Given the description of an element on the screen output the (x, y) to click on. 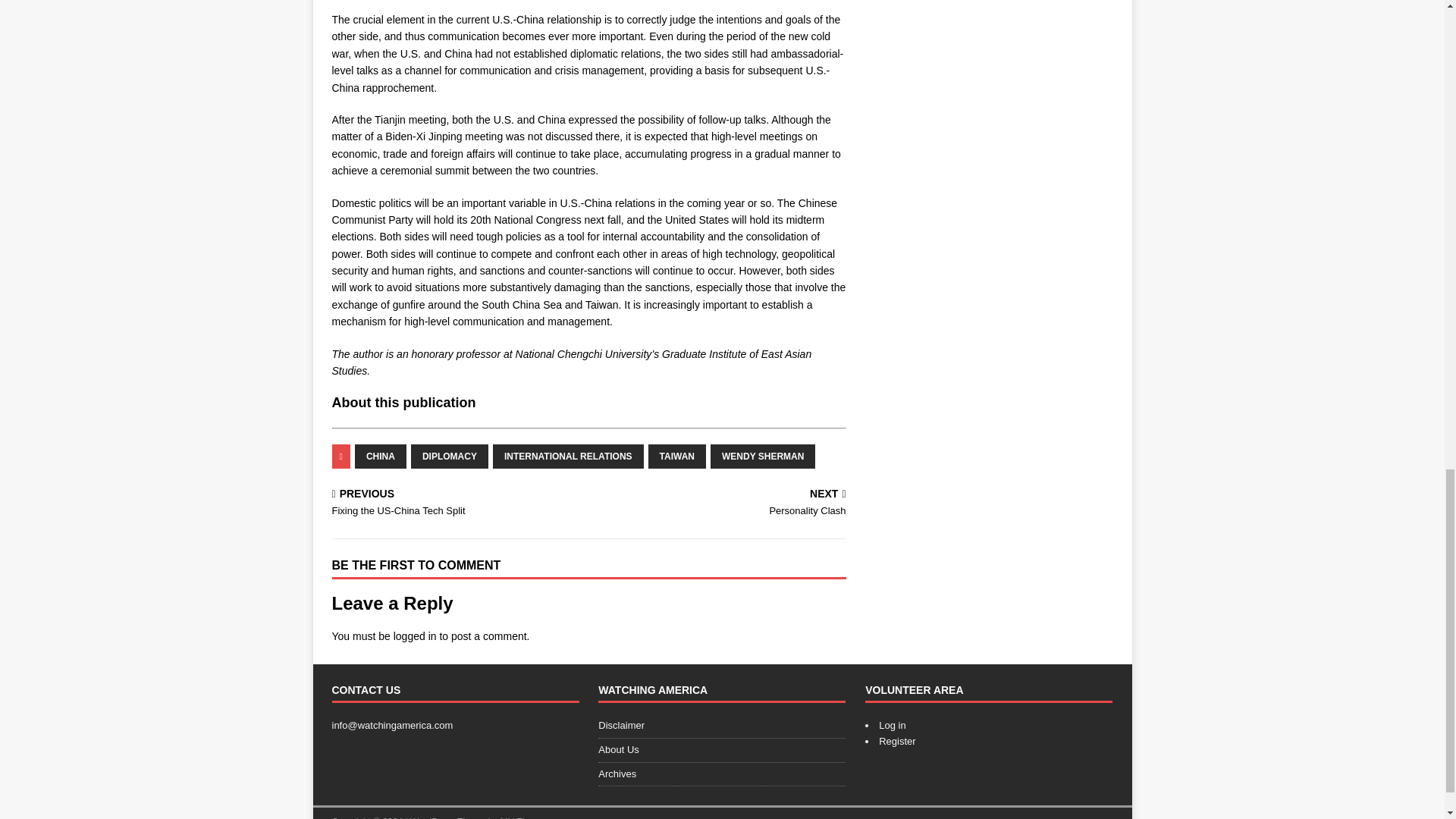
Register (720, 503)
Archives (897, 740)
Log in (721, 774)
Disclaimer (892, 725)
INTERNATIONAL RELATIONS (721, 727)
About Us (457, 503)
CHINA (568, 456)
TAIWAN (721, 750)
